Given the description of an element on the screen output the (x, y) to click on. 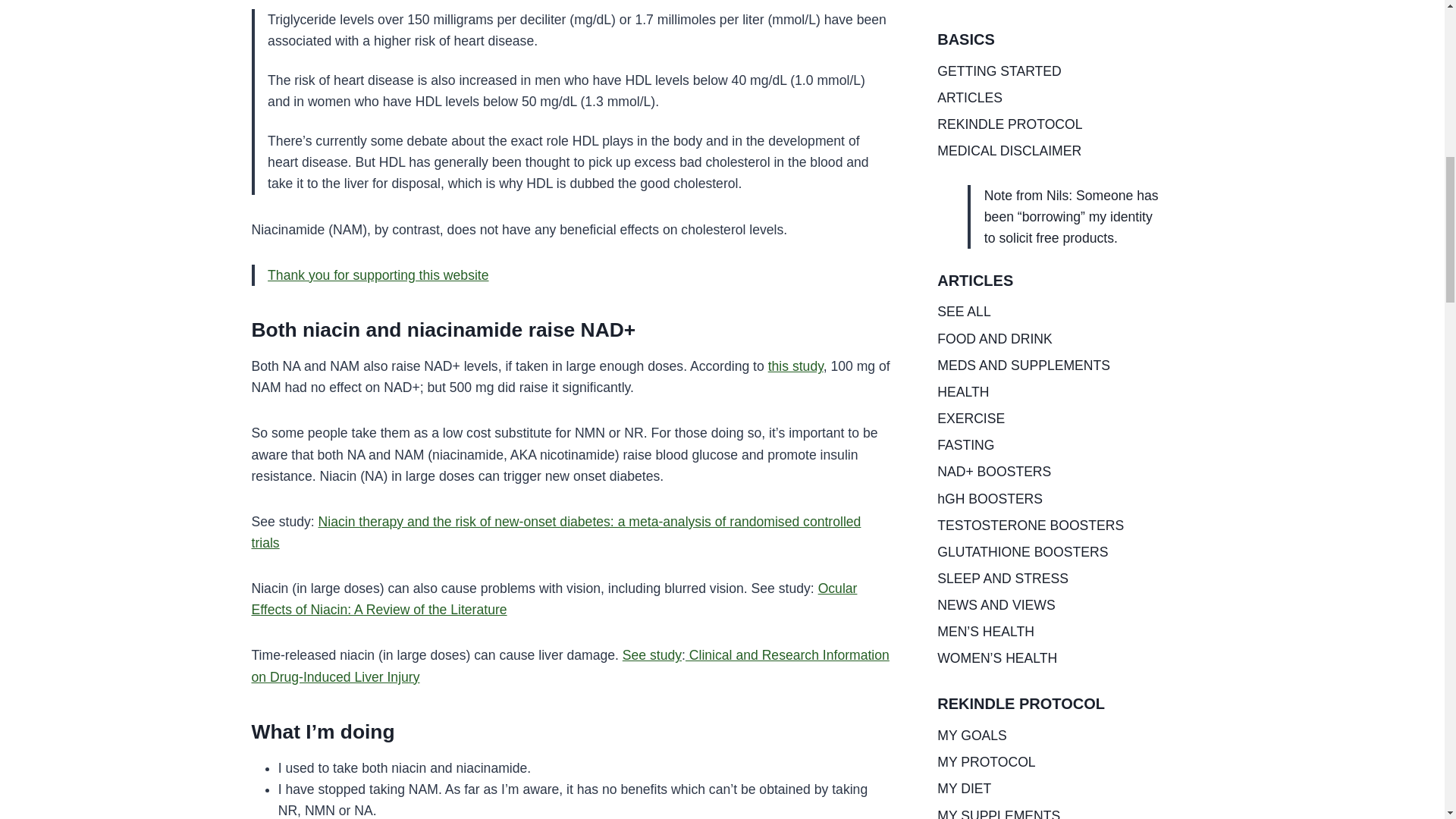
Thank you for supporting this website (377, 274)
this study (796, 365)
Ocular Effects of Niacin: A Review of the Literature (554, 598)
See study (652, 654)
